Given the description of an element on the screen output the (x, y) to click on. 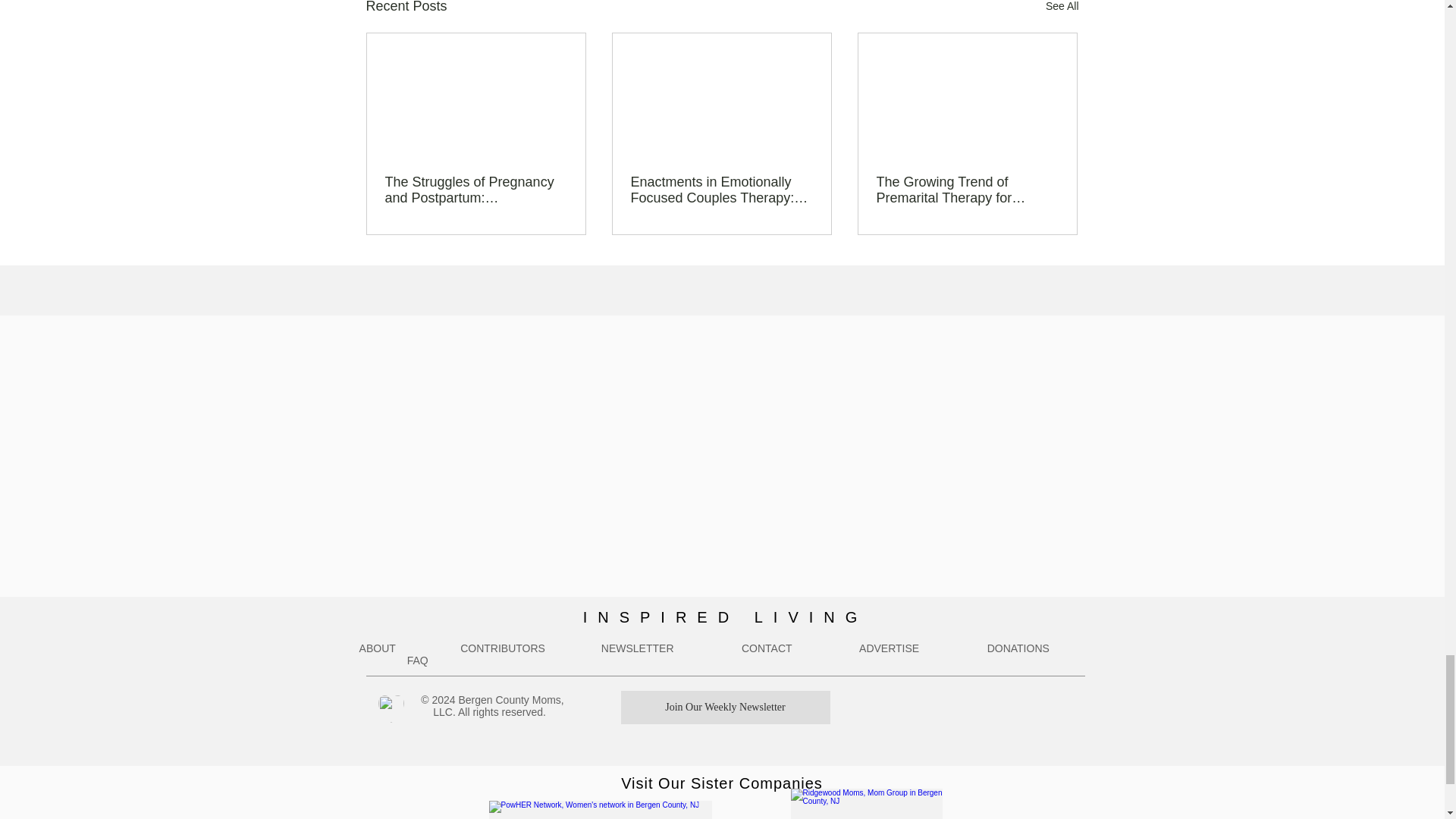
Ridgewood Moms, Mom Group in Bergen County, NJ (866, 803)
PowHER Network, Women's network in Bergen County, N (599, 809)
